Given the description of an element on the screen output the (x, y) to click on. 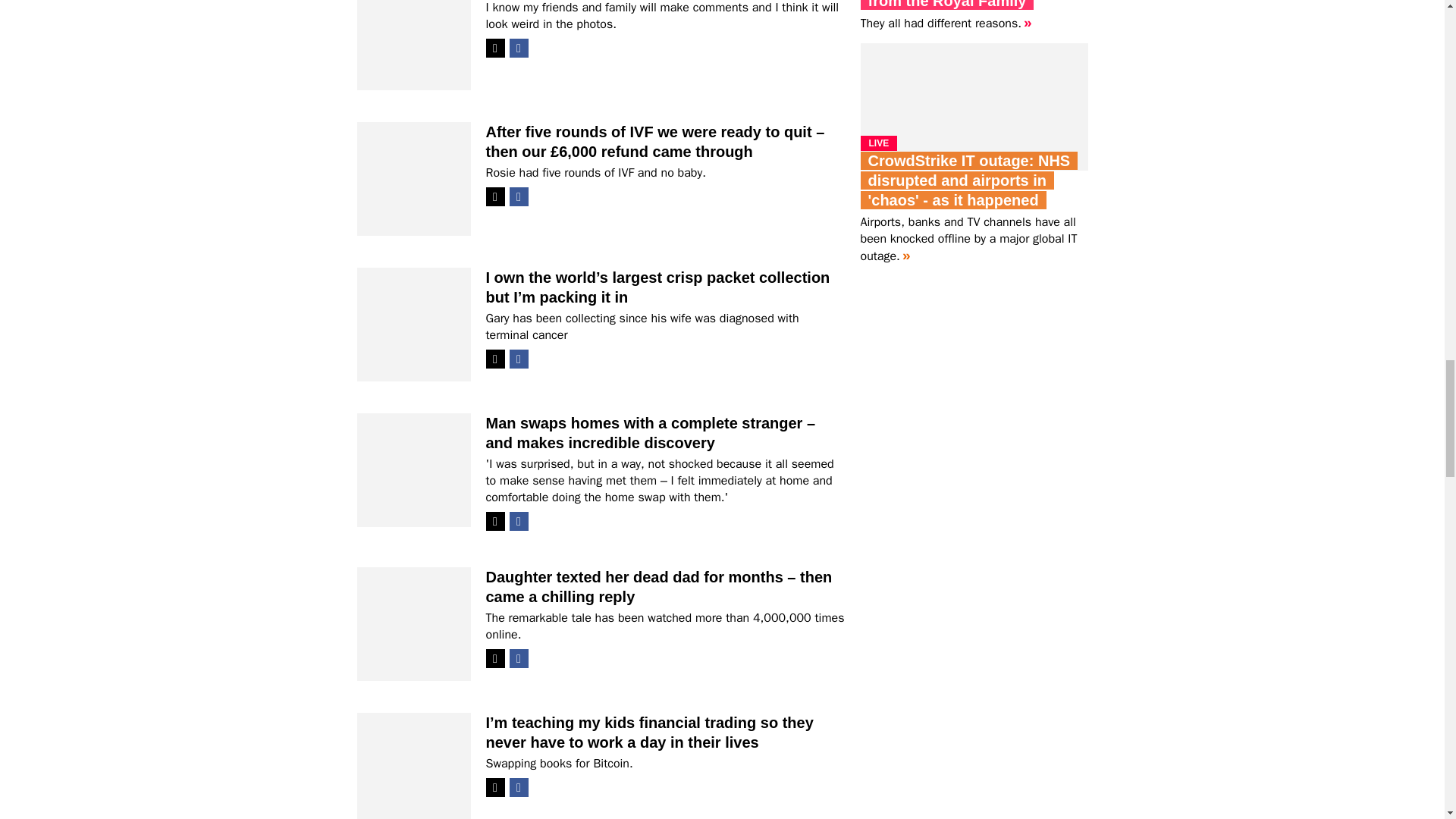
One thing is going to ruin my wedding day (413, 87)
